Given the description of an element on the screen output the (x, y) to click on. 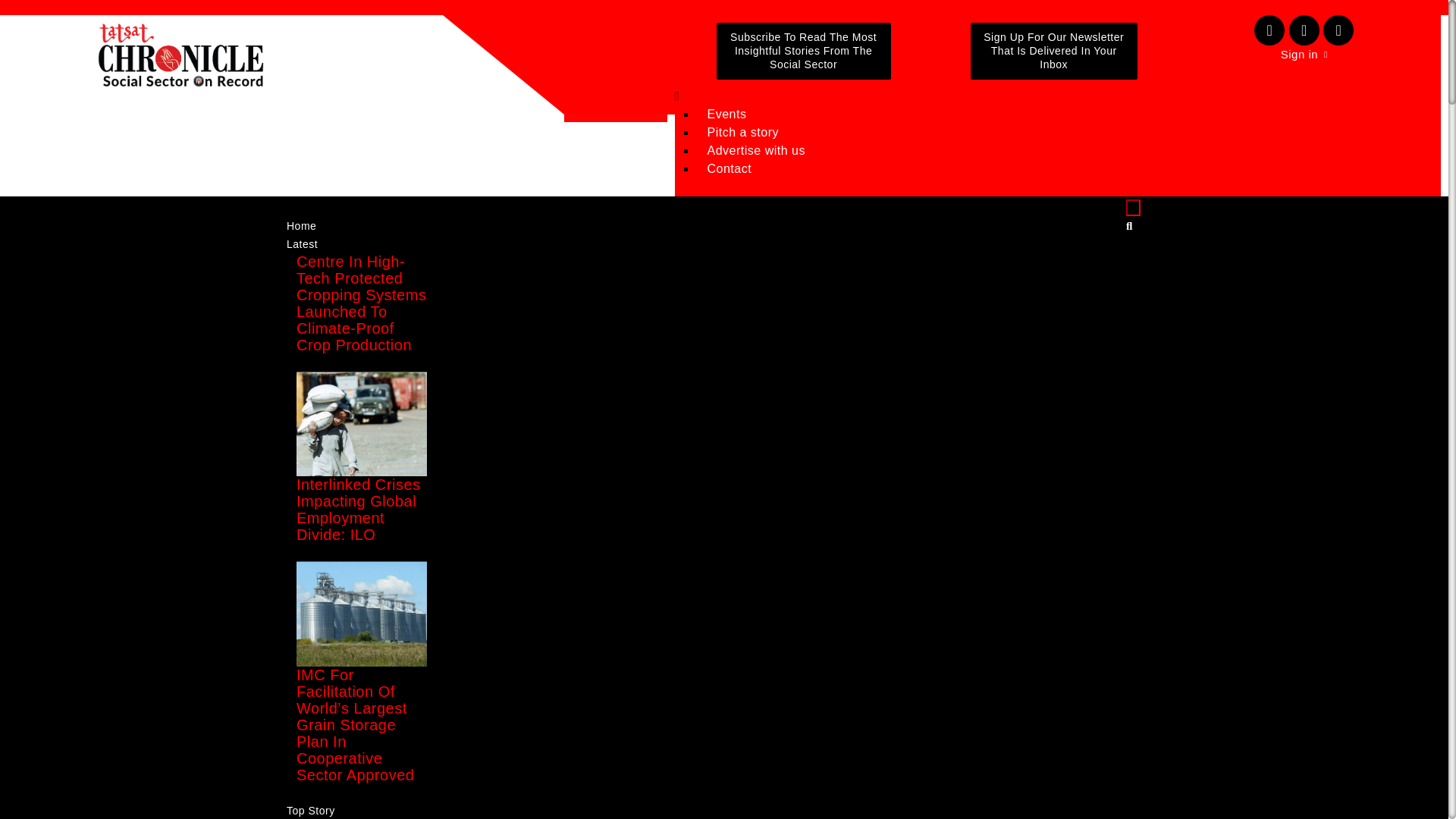
Home (301, 225)
Interlinked Crises Impacting Global Employment Divide: ILO (358, 508)
Events (726, 113)
Latest (302, 243)
Pitch a story (742, 131)
Advertise with us (755, 150)
Contact (728, 168)
Top Story (310, 806)
Sign in (1304, 54)
